Given the description of an element on the screen output the (x, y) to click on. 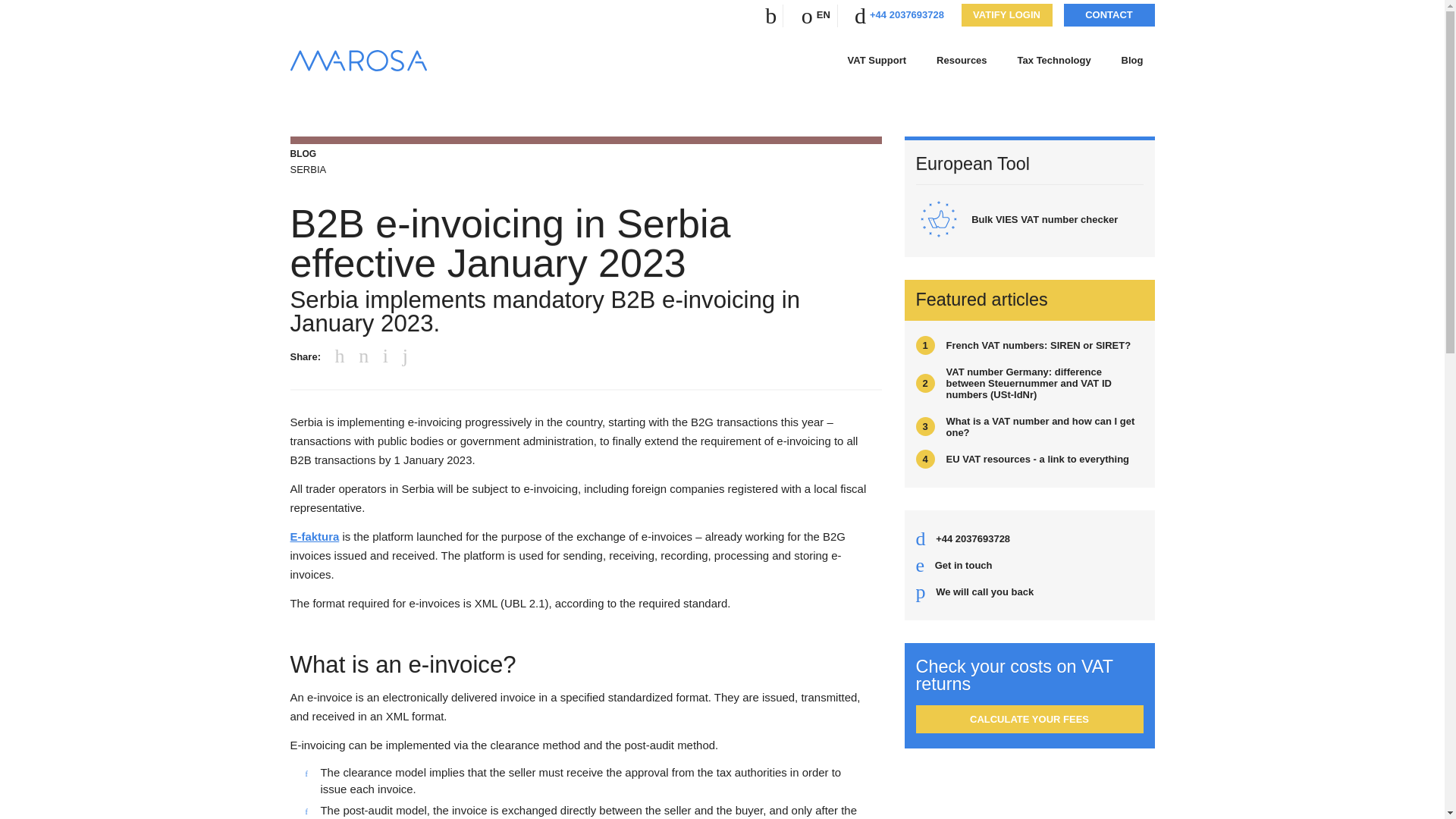
CONTACT (1109, 14)
VAT Support (877, 60)
EN (822, 14)
VATIFY LOGIN (1005, 14)
Resources (961, 60)
